Given the description of an element on the screen output the (x, y) to click on. 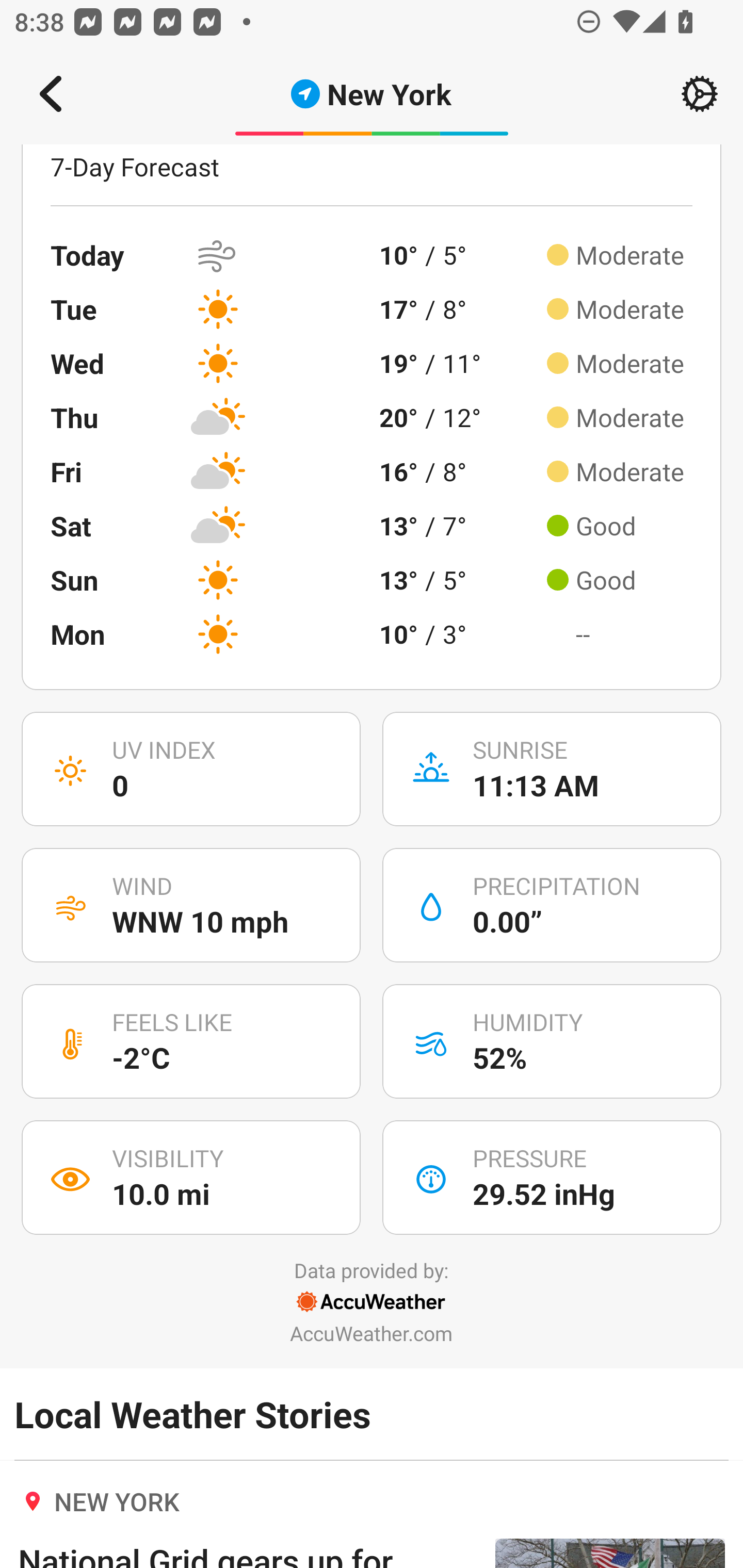
Navigate up (50, 93)
Setting (699, 93)
